Given the description of an element on the screen output the (x, y) to click on. 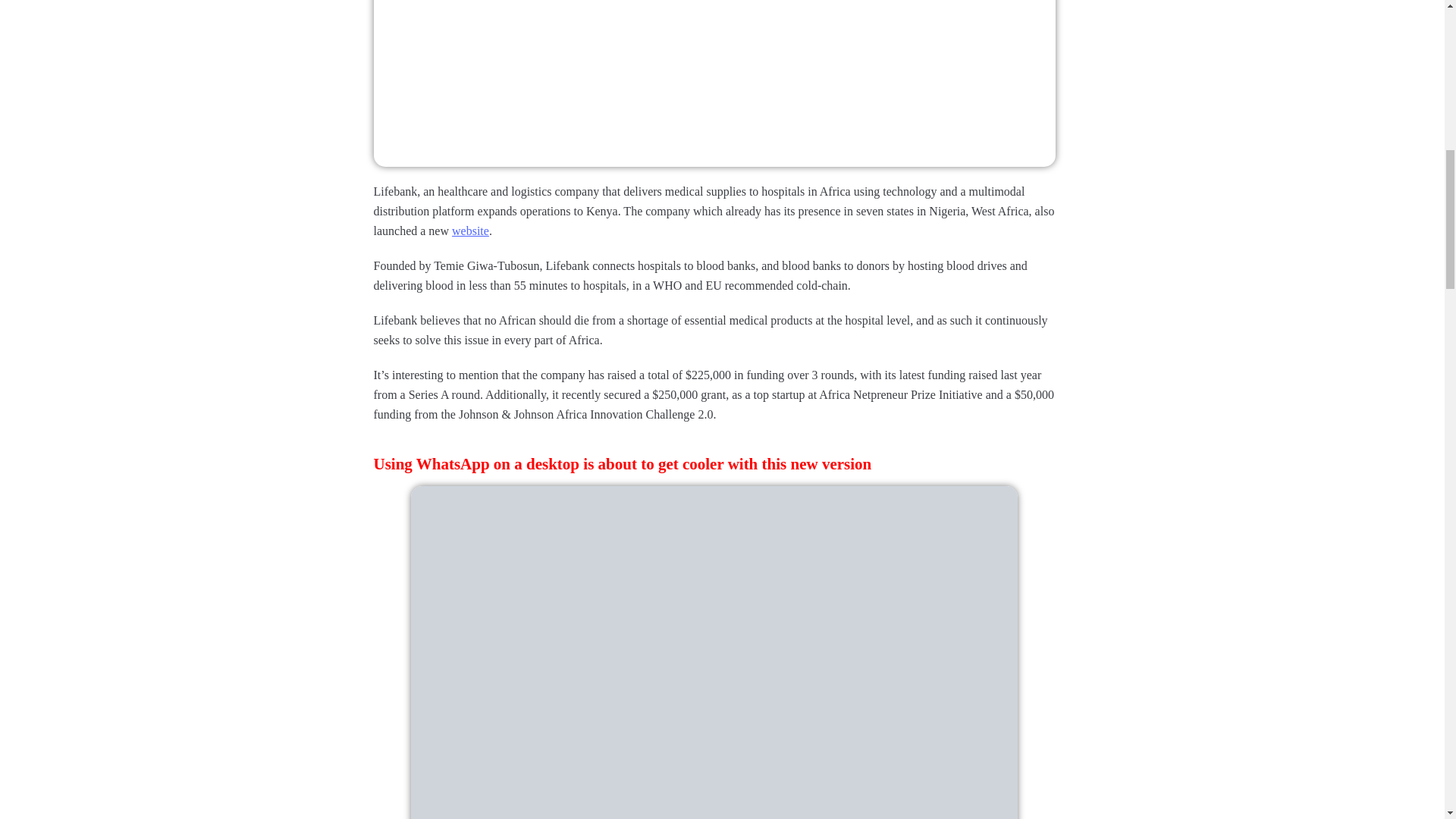
website (470, 230)
